Given the description of an element on the screen output the (x, y) to click on. 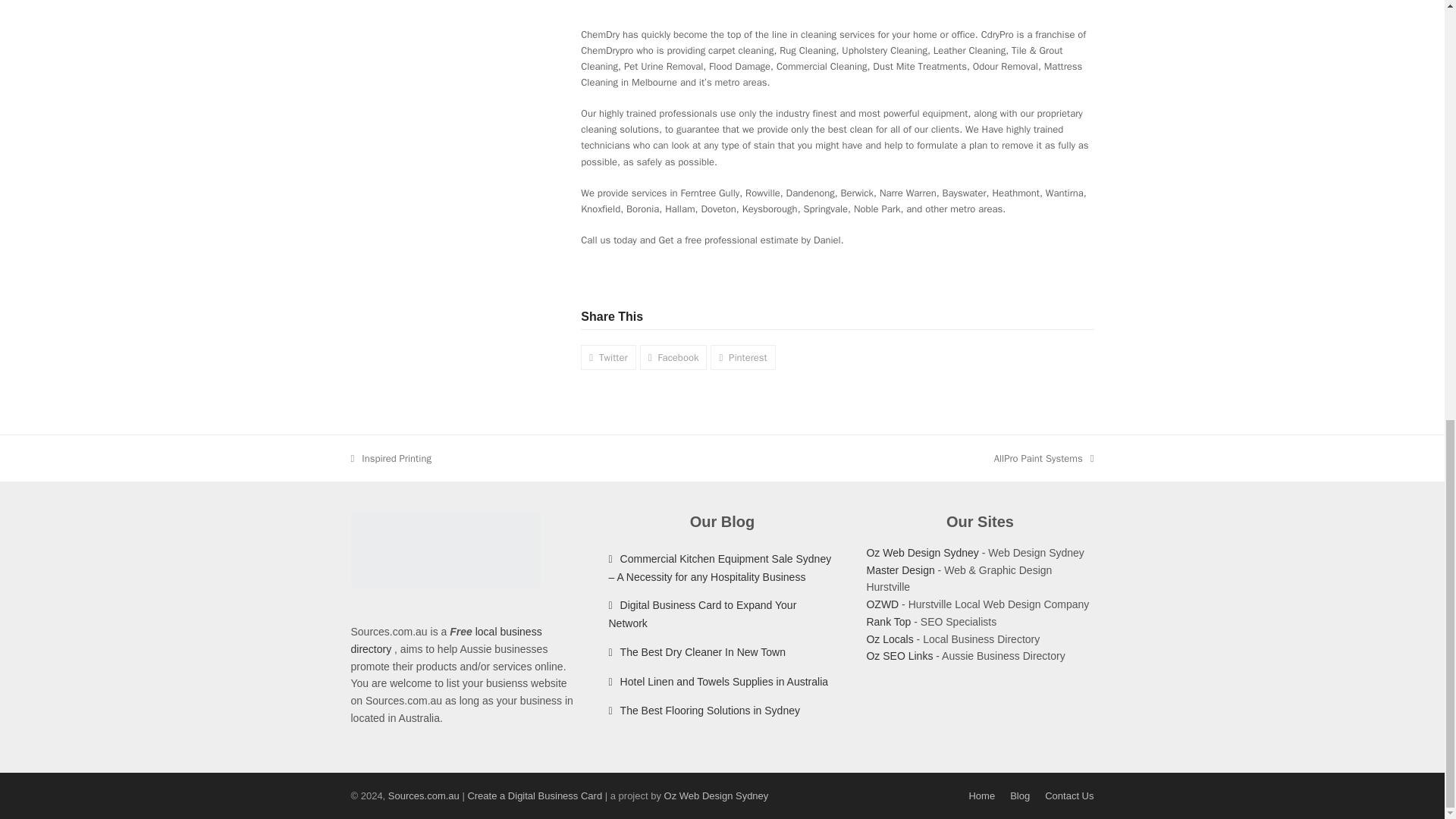
OZWD (882, 604)
Pinterest (742, 357)
australian business directory (889, 639)
Twitter (607, 357)
Hotel Linen and Towels Supplies in Australia (390, 458)
web design sydney (718, 681)
Facebook (715, 795)
Oz Locals (673, 357)
Oz SEO Links (889, 639)
The Best Flooring Solutions in Sydney (899, 655)
web design sydney (703, 710)
web designer hurstville (922, 552)
Digital Business Card to Expand Your Network (1044, 458)
